Given the description of an element on the screen output the (x, y) to click on. 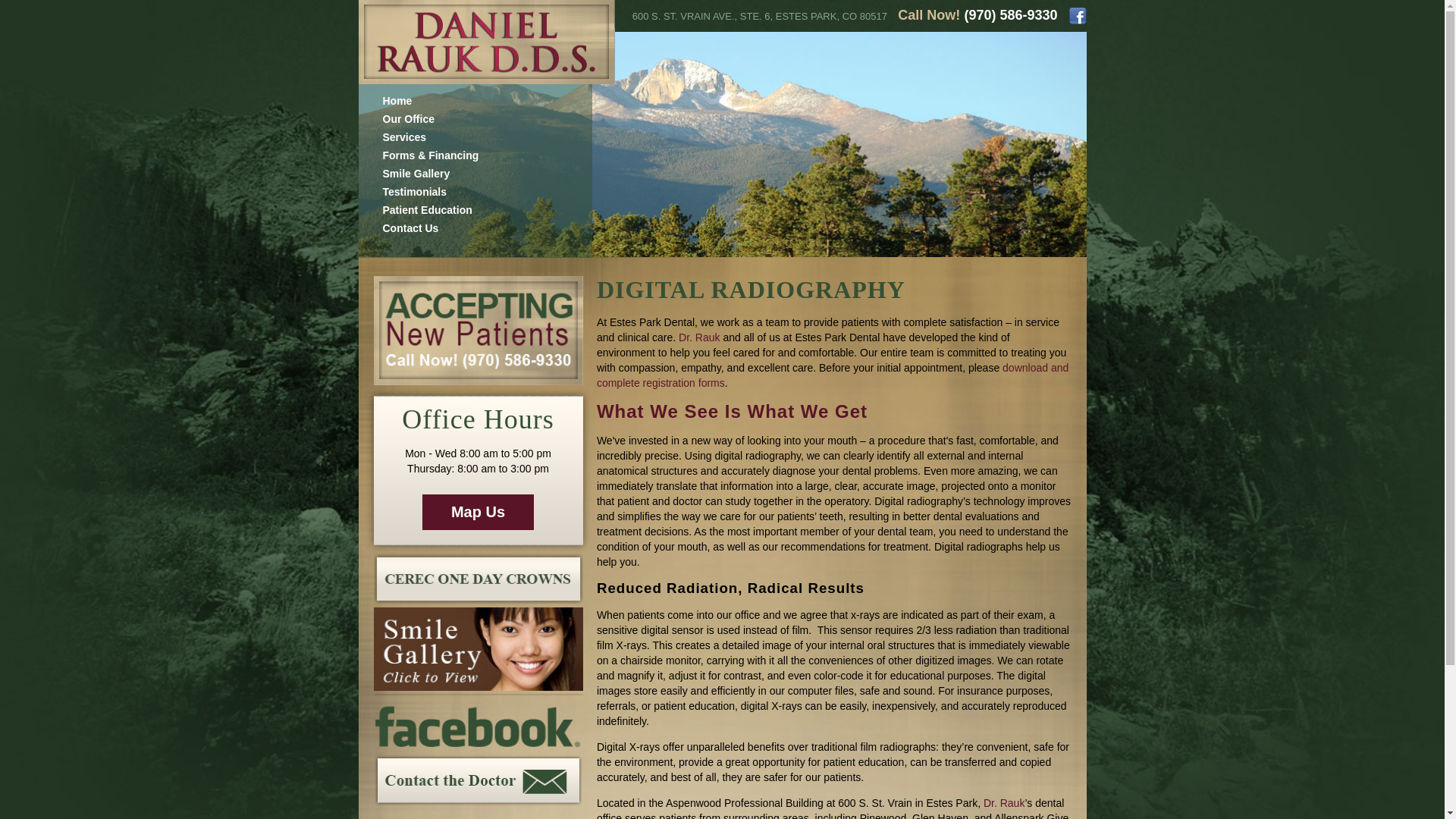
Our Office (407, 119)
Smile Gallery (415, 173)
Services (403, 137)
Testimonials (413, 191)
Contact Us (409, 227)
Patient Education (426, 209)
Home (396, 101)
